Given the description of an element on the screen output the (x, y) to click on. 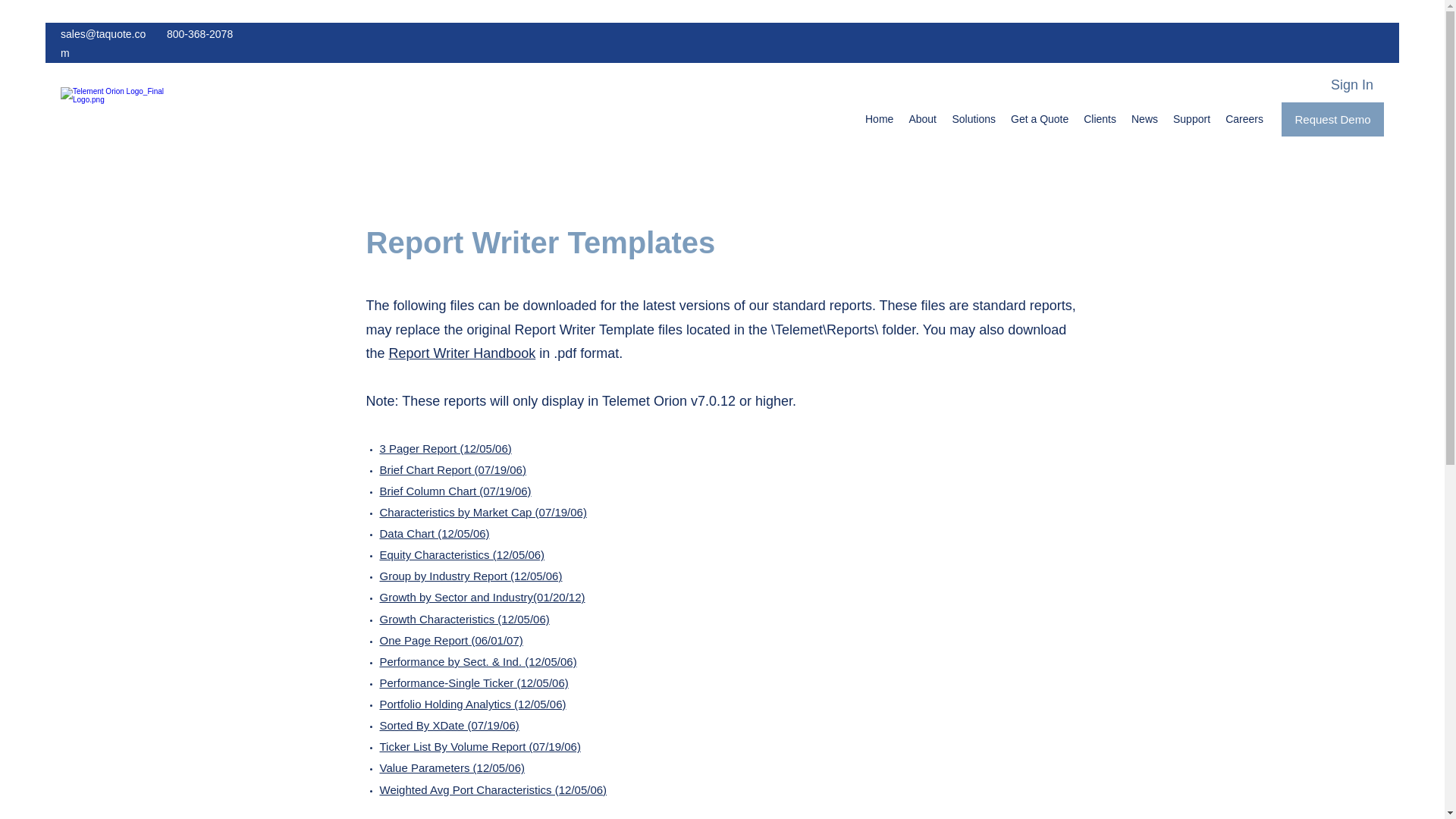
Careers (1244, 118)
Report Writer Handbook (461, 353)
Request Demo (1332, 119)
Home (879, 118)
Clients (1099, 118)
About (922, 118)
Get a Quote (1039, 118)
Support (1191, 118)
News (1145, 118)
Solutions (973, 118)
